Given the description of an element on the screen output the (x, y) to click on. 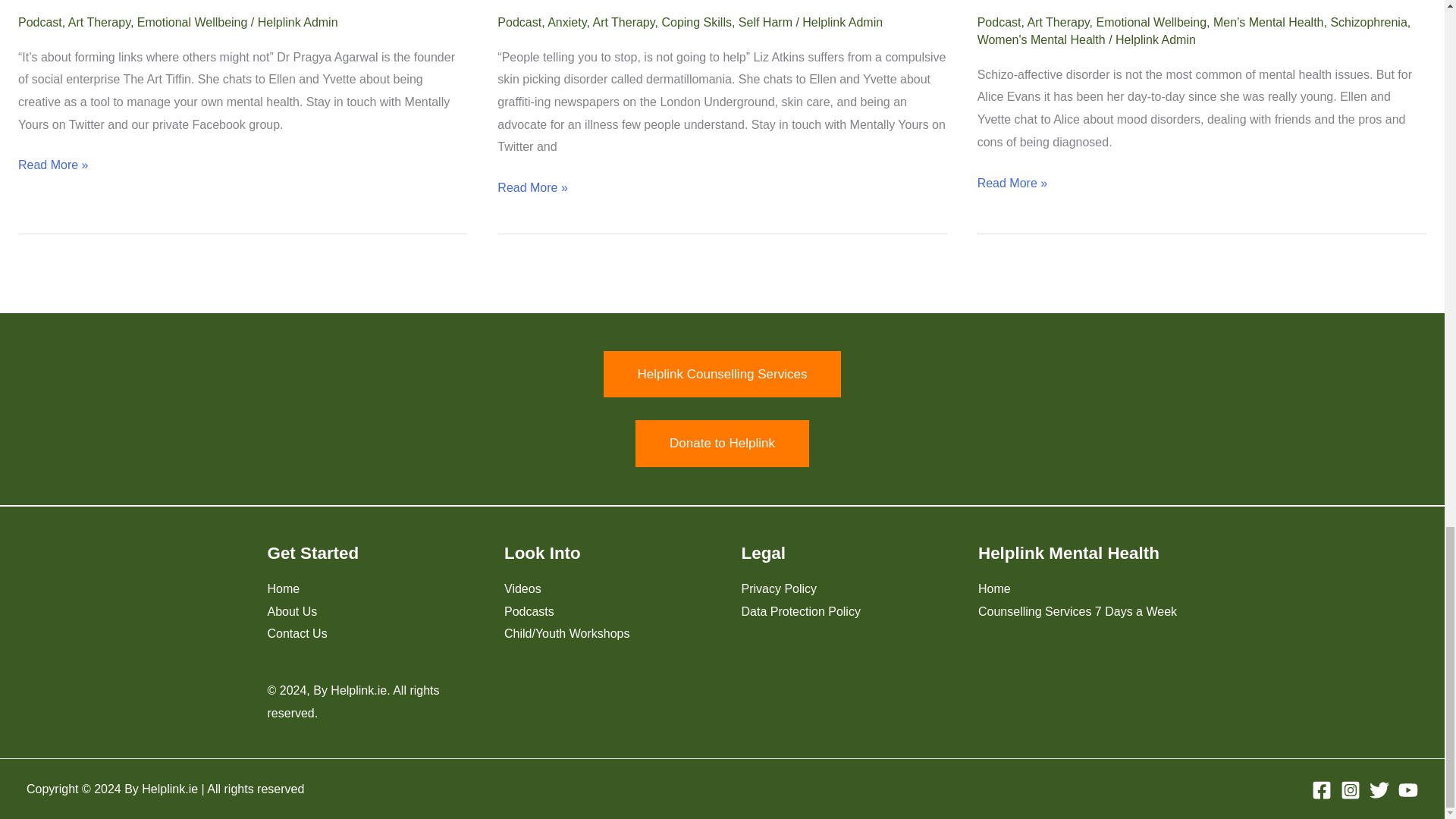
View all posts by Helplink Admin (842, 21)
View all posts by Helplink Admin (297, 21)
View all posts by Helplink Admin (1155, 39)
